Given the description of an element on the screen output the (x, y) to click on. 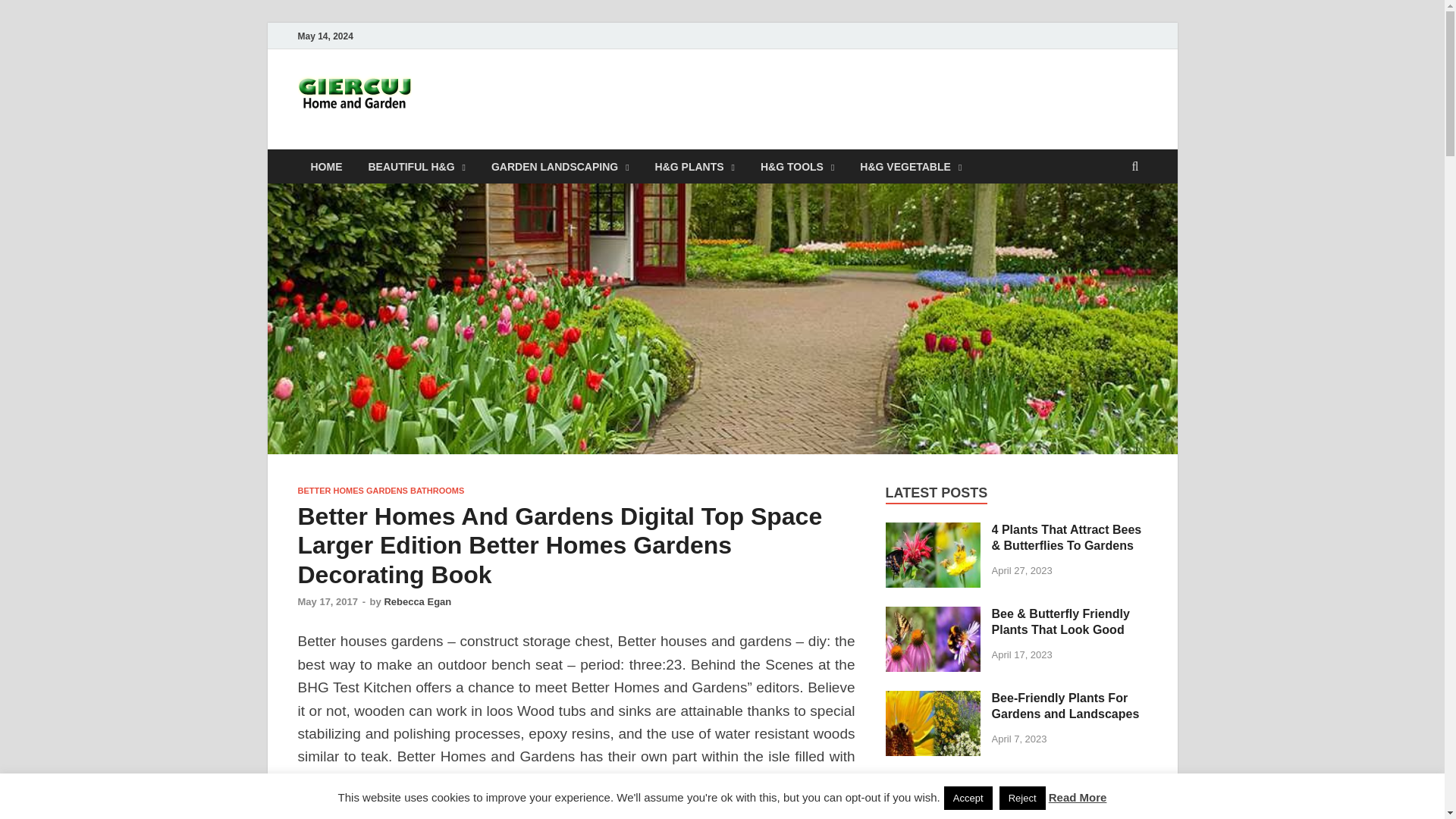
Bee-Friendly Plants For Gardens and Landscapes (932, 698)
How To Care For Your Indoor Plants During Winter (932, 783)
HOME (326, 166)
Giercuj (469, 100)
GARDEN LANDSCAPING (560, 166)
